Given the description of an element on the screen output the (x, y) to click on. 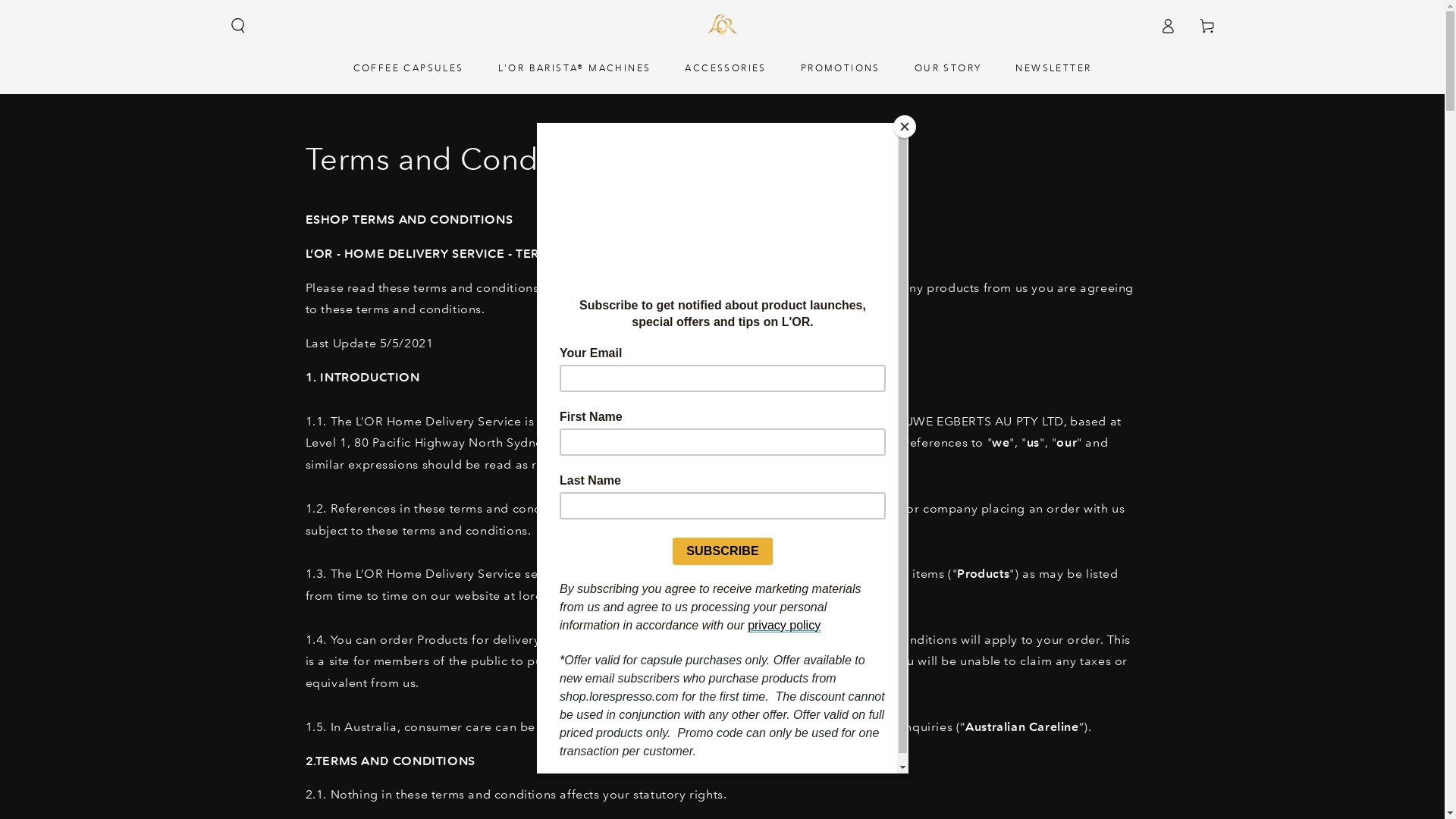
ACCESSORIES Element type: text (725, 67)
Log in Element type: text (1167, 25)
OUR STORY Element type: text (948, 67)
COFFEE CAPSULES Element type: text (408, 67)
NEWSLETTER Element type: text (1053, 67)
PROMOTIONS Element type: text (840, 67)
